Given the description of an element on the screen output the (x, y) to click on. 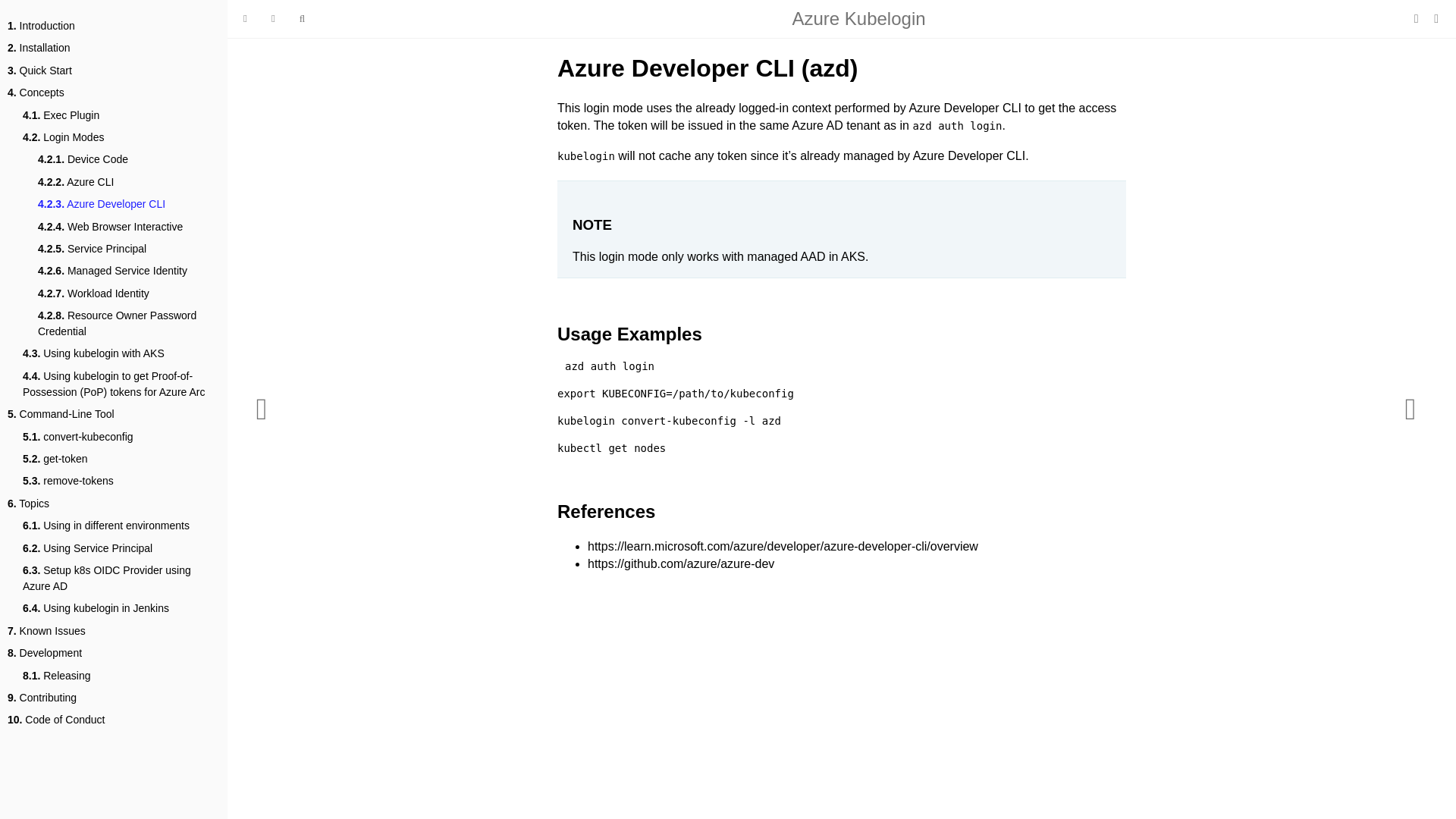
1. Introduction (41, 26)
5. Command-Line Tool (61, 414)
4.2.1. Device Code (82, 159)
2. Installation (38, 48)
5.1. convert-kubeconfig (78, 437)
4.1. Exec Plugin (61, 115)
4.2.7. Workload Identity (93, 293)
3. Quick Start (39, 70)
4.2.5. Service Principal (92, 248)
4.2. Login Modes (63, 137)
